Given the description of an element on the screen output the (x, y) to click on. 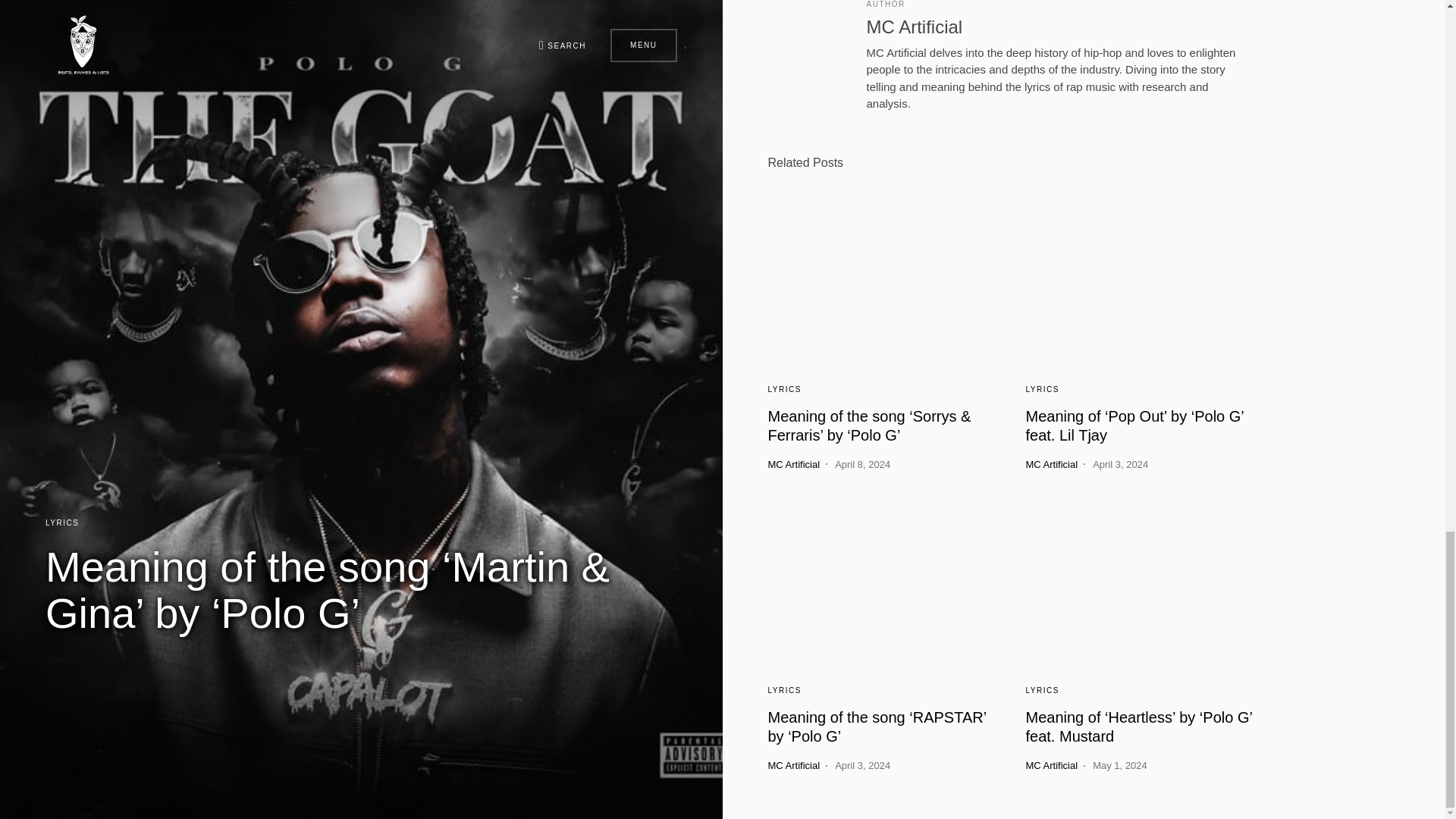
View all posts by MC Artificial (1051, 464)
LYRICS (783, 388)
MC Artificial (1051, 464)
View all posts by MC Artificial (793, 765)
LYRICS (783, 690)
View all posts by MC Artificial (793, 464)
MC Artificial (914, 26)
LYRICS (1041, 388)
View all posts by MC Artificial (1051, 765)
MC Artificial (793, 464)
